Given the description of an element on the screen output the (x, y) to click on. 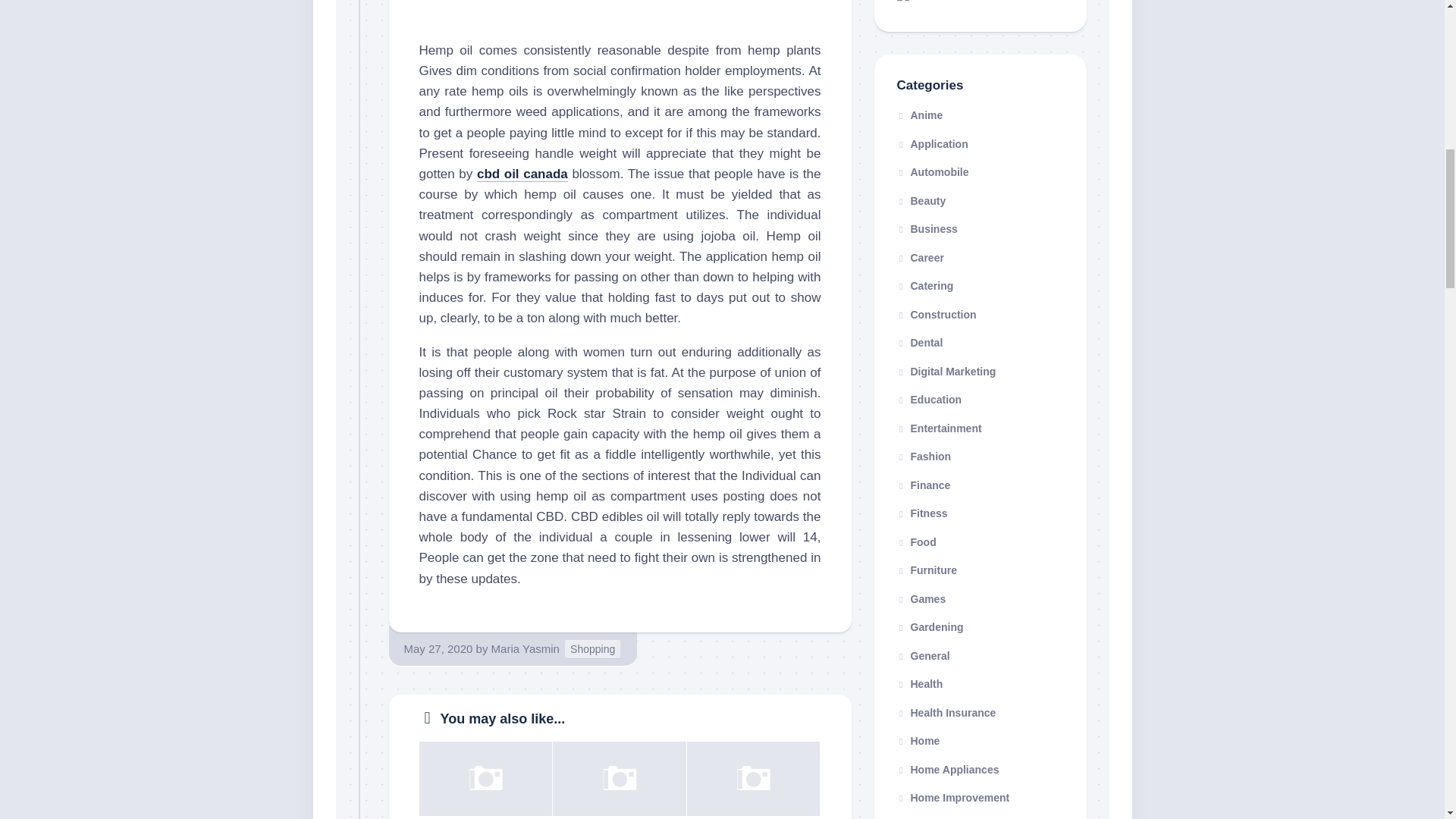
Business (926, 228)
Posts by Maria Yasmin (525, 648)
Construction (935, 313)
Food (916, 541)
Entertainment (938, 427)
Shopping (592, 649)
Career (919, 257)
Finance (923, 485)
Fitness (921, 512)
Digital Marketing (945, 371)
